Given the description of an element on the screen output the (x, y) to click on. 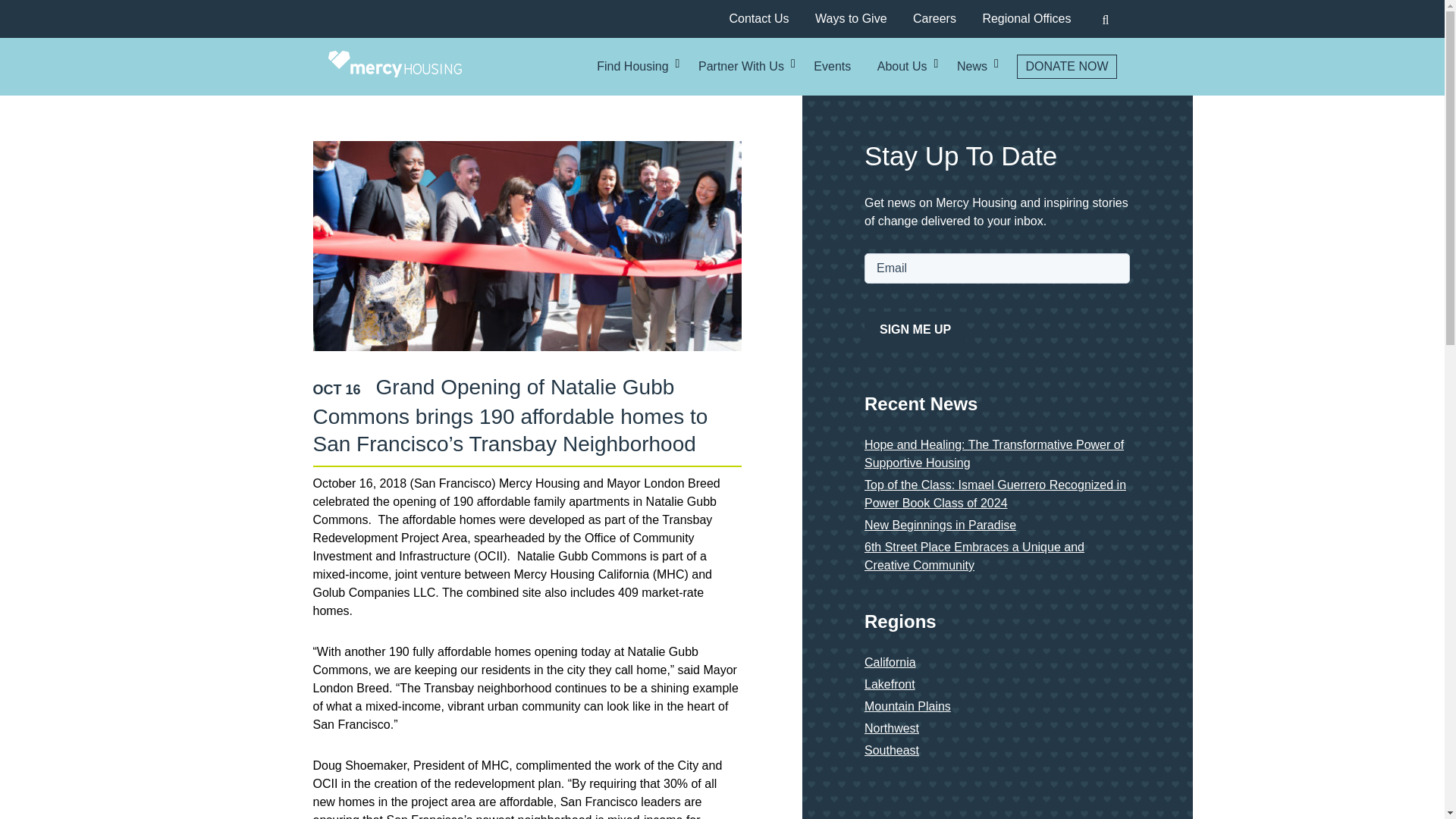
About Us (902, 66)
Careers (934, 18)
Regional Offices (1025, 18)
Contact Us (759, 18)
Ways to Give (850, 18)
Partner With Us (741, 66)
Sign me up (915, 330)
Find Housing (632, 66)
Events (831, 66)
